Given the description of an element on the screen output the (x, y) to click on. 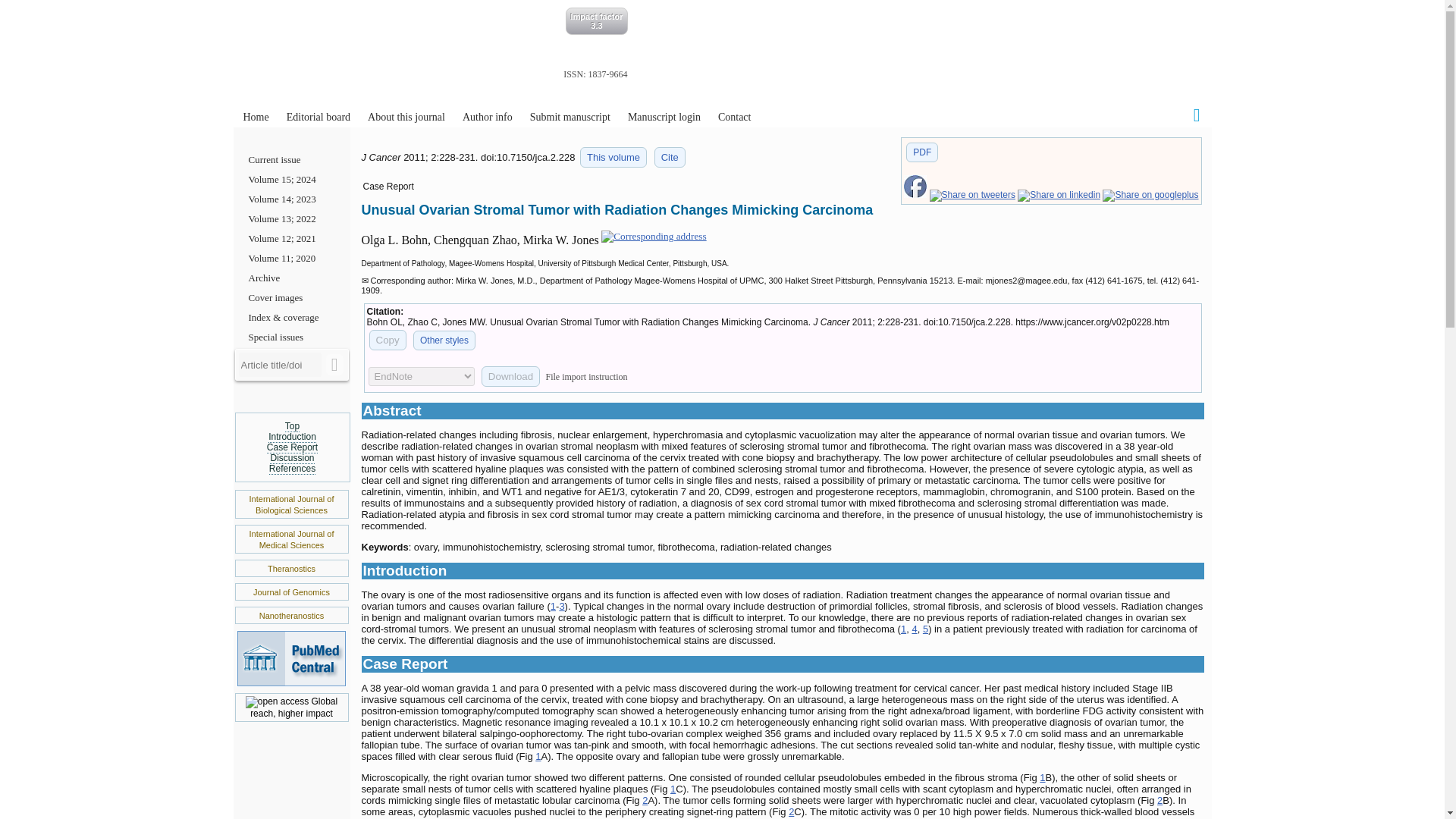
Volume 2 listing (612, 157)
About this journal (405, 117)
Theranostics (291, 568)
Volume 15; 2024 (291, 179)
International Journal of Medical Sciences (291, 539)
Editorial board (318, 117)
Top (292, 426)
Citation styles for this article (669, 157)
Other citation styles eg. ACS APA (444, 340)
Volume 11; 2020 (291, 258)
